Given the description of an element on the screen output the (x, y) to click on. 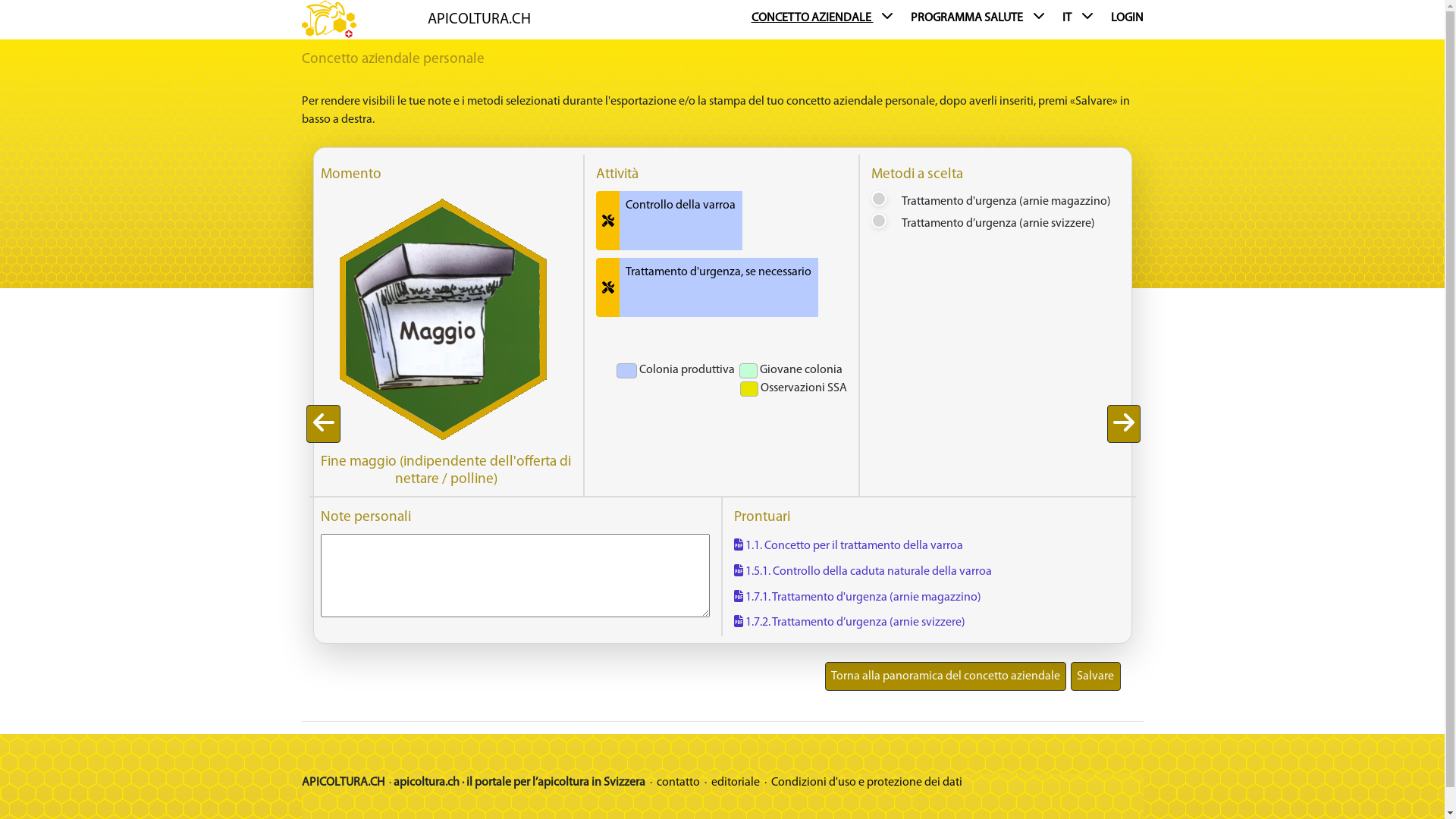
CONCETTO AZIENDALE Element type: text (825, 20)
1.7.1. Trattamento d'urgenza (arnie magazzino) Element type: text (857, 597)
fb:like Facebook Social Plugin Element type: hover (721, 759)
Controllo della varroa Element type: text (680, 220)
Trattamento d'urgenza, se necessario Element type: text (718, 286)
CONDIZIONI QUADRO Element type: text (935, 299)
Condizioni d'uso e protezione dei dati Element type: text (865, 782)
1.5.1. Controllo della caduta naturale della varroa Element type: text (862, 571)
contatto Element type: text (679, 782)
1.1. Concetto per il trattamento della varroa Element type: text (848, 545)
LOGIN Element type: text (1126, 20)
APICOLTURA.CH Element type: text (478, 19)
editoriale Element type: text (736, 782)
Salvare Element type: text (1095, 676)
Torna alla panoramica del concetto aziendale Element type: text (945, 676)
IT Element type: text (1080, 20)
PANORAMICA Element type: text (798, 299)
PROGRAMMA SALUTE Element type: text (980, 20)
I MIEI CONCETTI Element type: text (1079, 299)
